Given the description of an element on the screen output the (x, y) to click on. 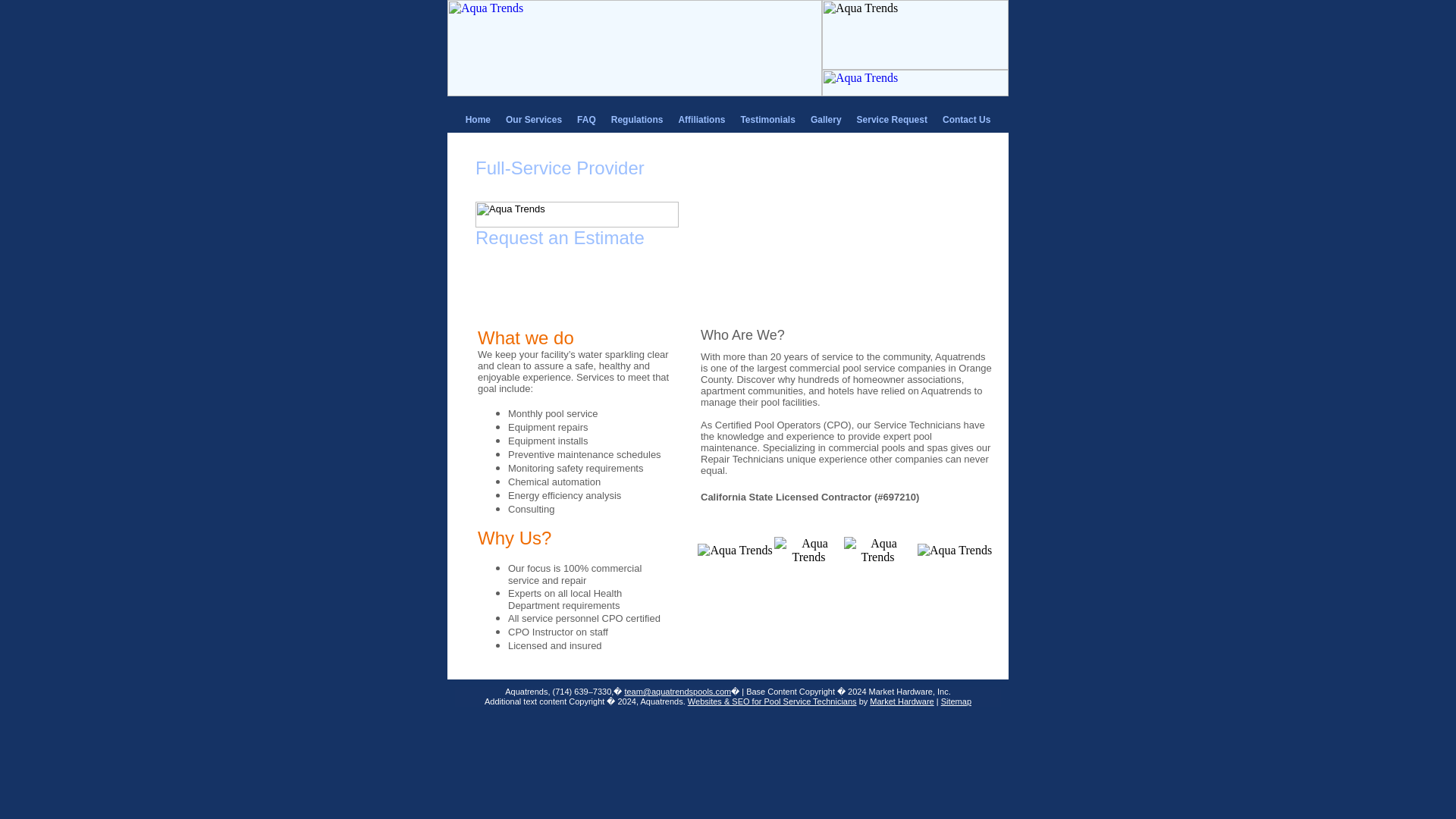
Home (478, 119)
Aqua Trends (634, 48)
Regulations (637, 119)
Service Request (560, 258)
Testimonials (766, 119)
Welcome to Aqua Trends (634, 91)
Service Request (891, 119)
Aqua Trends (915, 82)
Gallery (826, 119)
Aqua Trends (915, 34)
Contact Us (965, 119)
Aqua Trends (577, 214)
Sitemap (955, 700)
FAQ (586, 119)
